Given the description of an element on the screen output the (x, y) to click on. 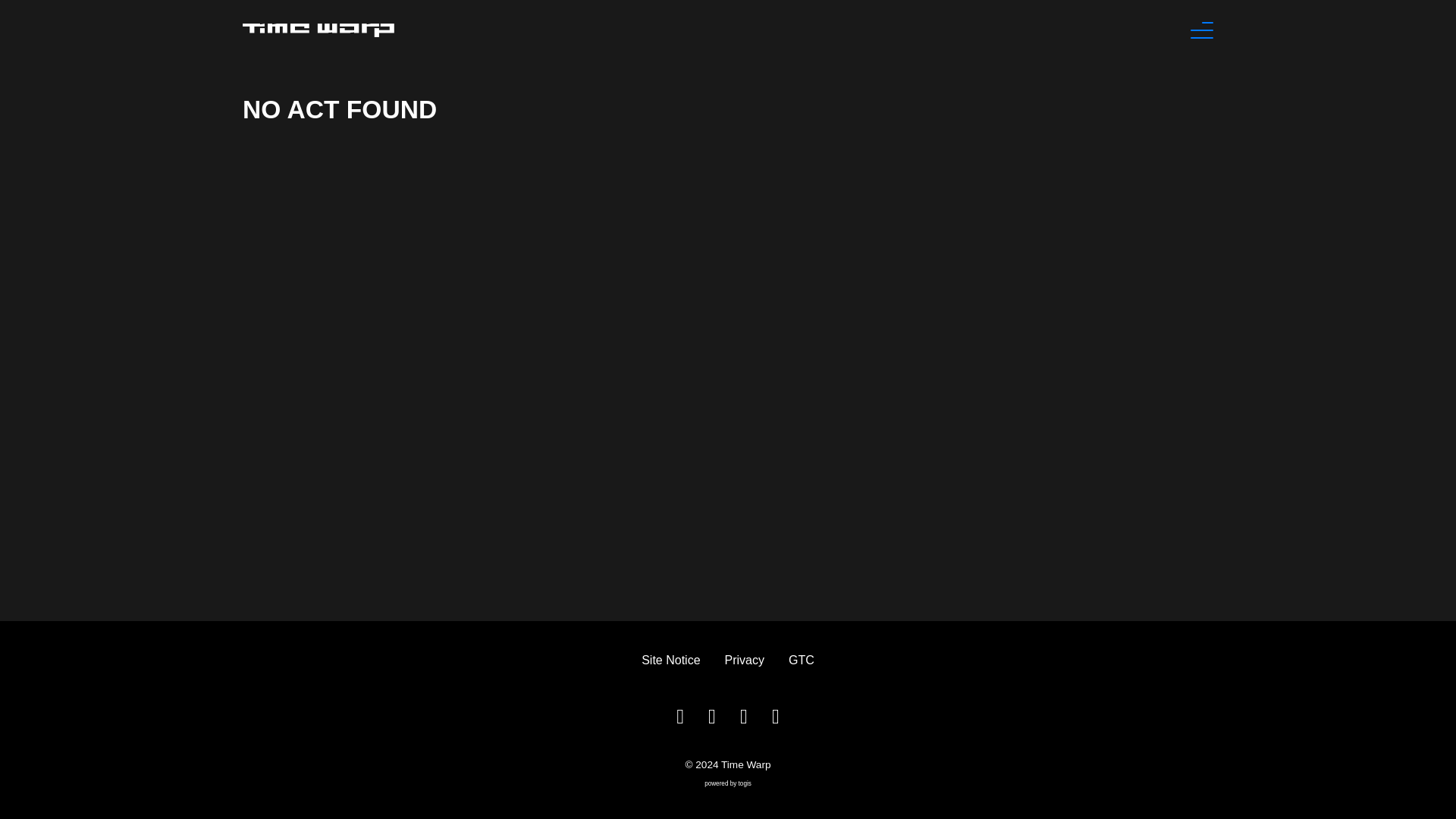
GTC (801, 660)
togis (744, 783)
Privacy (744, 660)
Site Notice (669, 660)
